Given the description of an element on the screen output the (x, y) to click on. 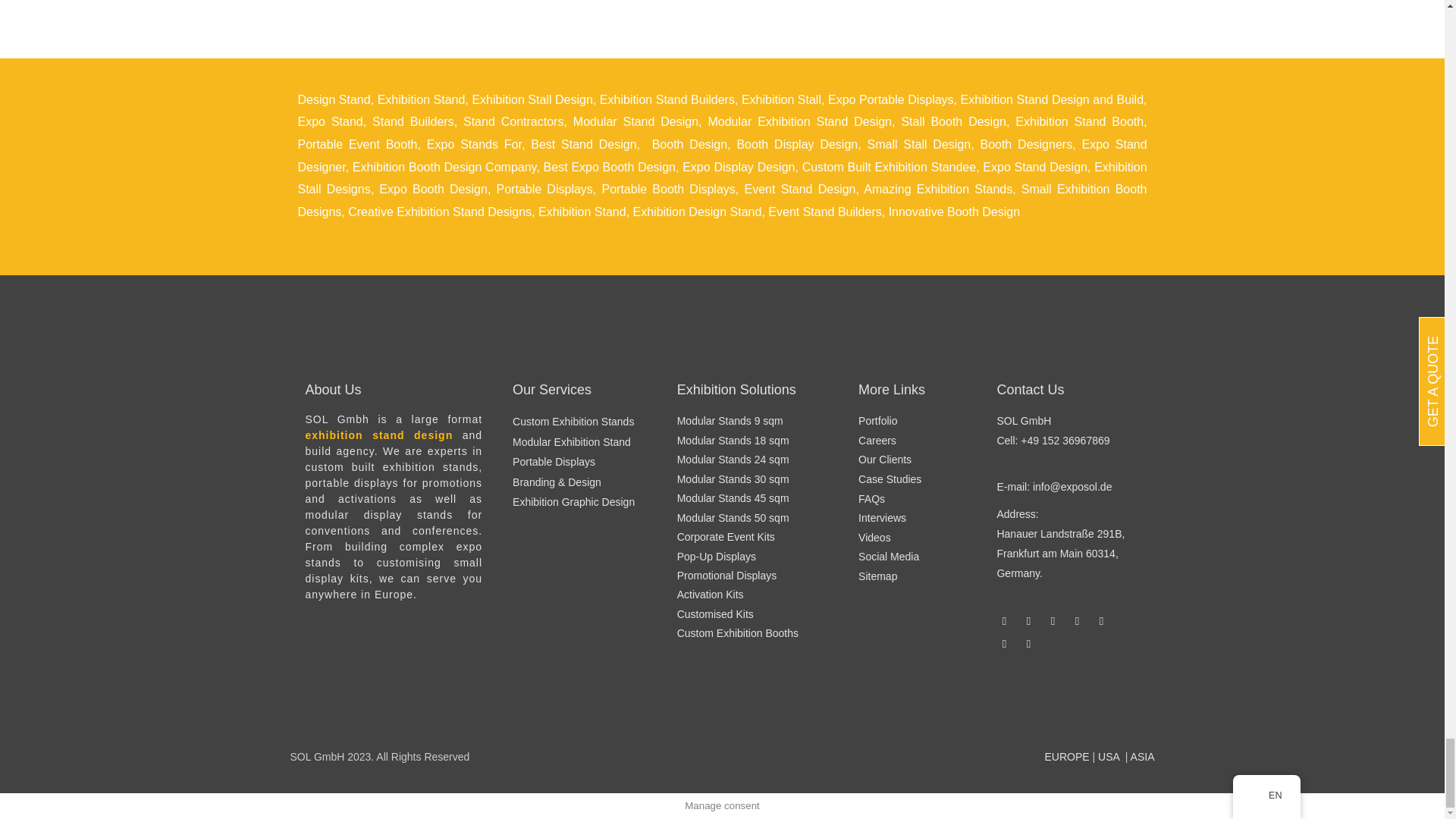
I-Love-Sol (721, 705)
Footer-Logo-03-cropped (845, 705)
Exhibition Stall Design (531, 99)
Exhibition Stand (421, 99)
Design Stand (333, 99)
Footer-Logo-07-Cropped (598, 705)
Exhibition Stand Builders (667, 99)
Footer-Logo-02-cropped (475, 705)
Footer-Logo-06-cropped (969, 705)
